Given the description of an element on the screen output the (x, y) to click on. 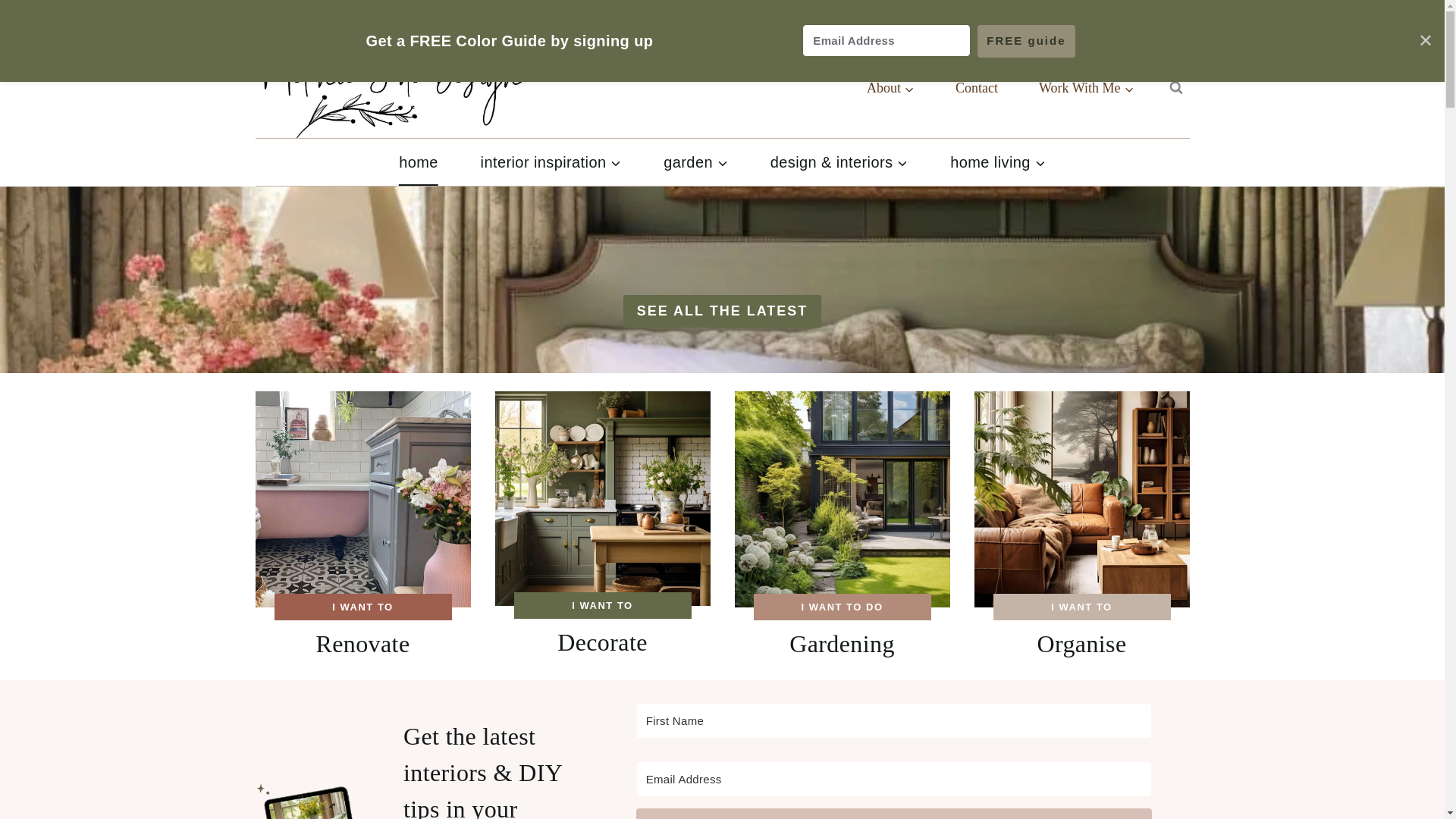
Contact (975, 87)
Wallpaper Trends for 2023 (1123, 19)
About (889, 87)
home (417, 161)
garden (695, 161)
home living (996, 161)
Work With Me (1085, 87)
interior inspiration (551, 161)
